Given the description of an element on the screen output the (x, y) to click on. 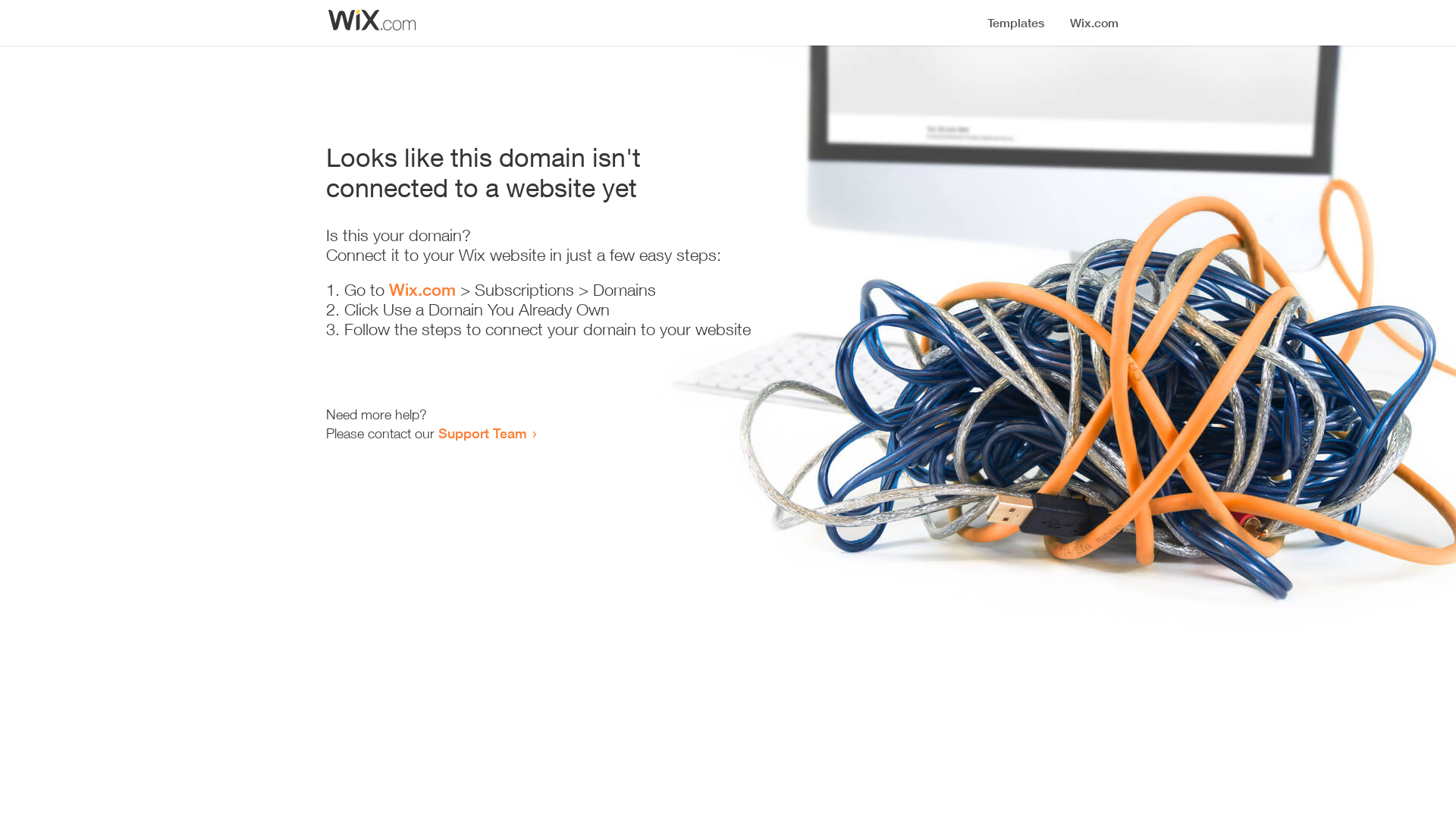
Support Team Element type: text (482, 432)
Wix.com Element type: text (422, 289)
